Given the description of an element on the screen output the (x, y) to click on. 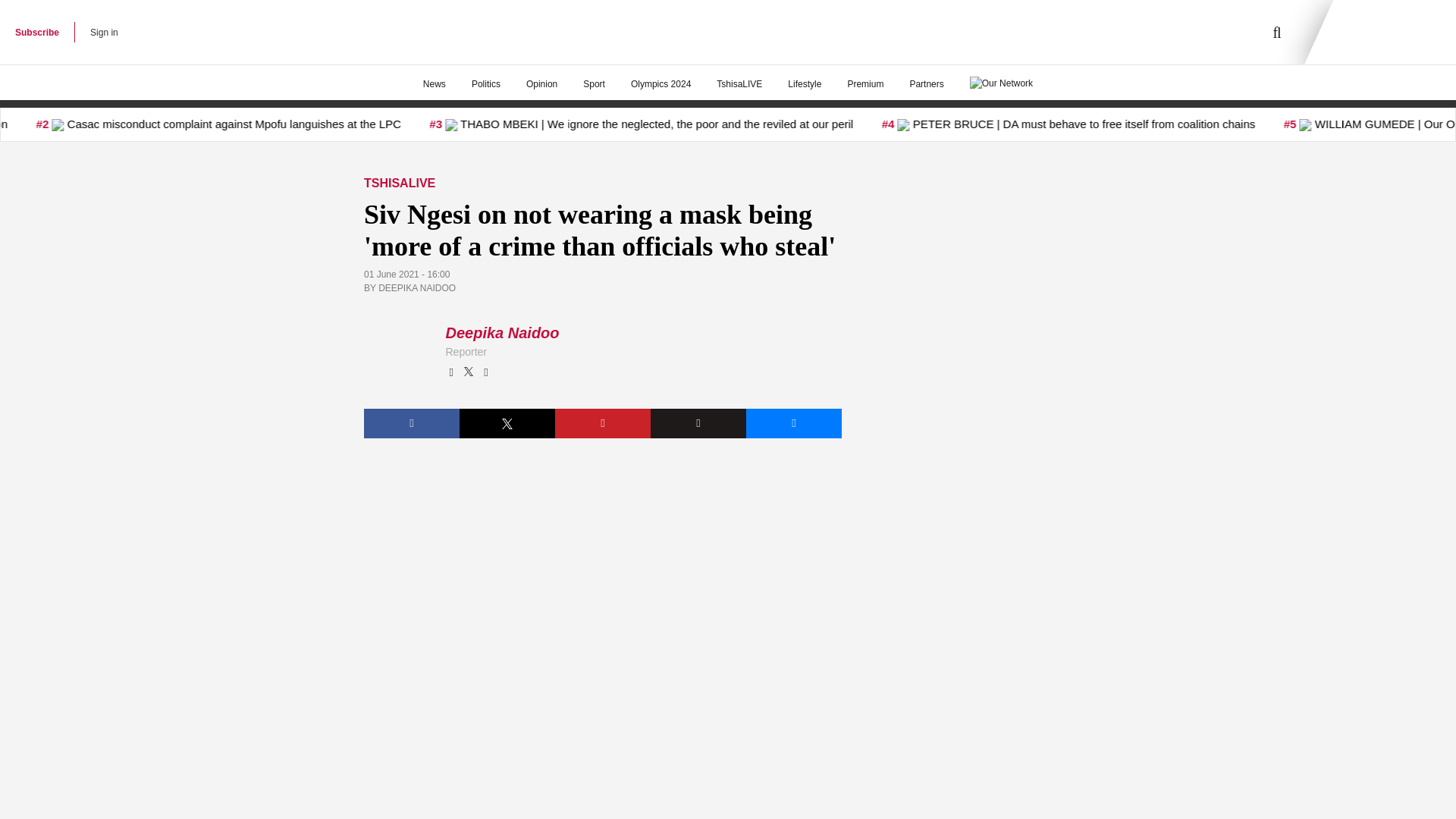
Sign in (103, 32)
TshisaLIVE (738, 84)
Sport (593, 84)
Partners (926, 84)
Politics (485, 84)
Subscribe (36, 32)
Lifestyle (804, 84)
Olympics 2024 (660, 84)
Our Network (1000, 82)
Premium (865, 84)
